Given the description of an element on the screen output the (x, y) to click on. 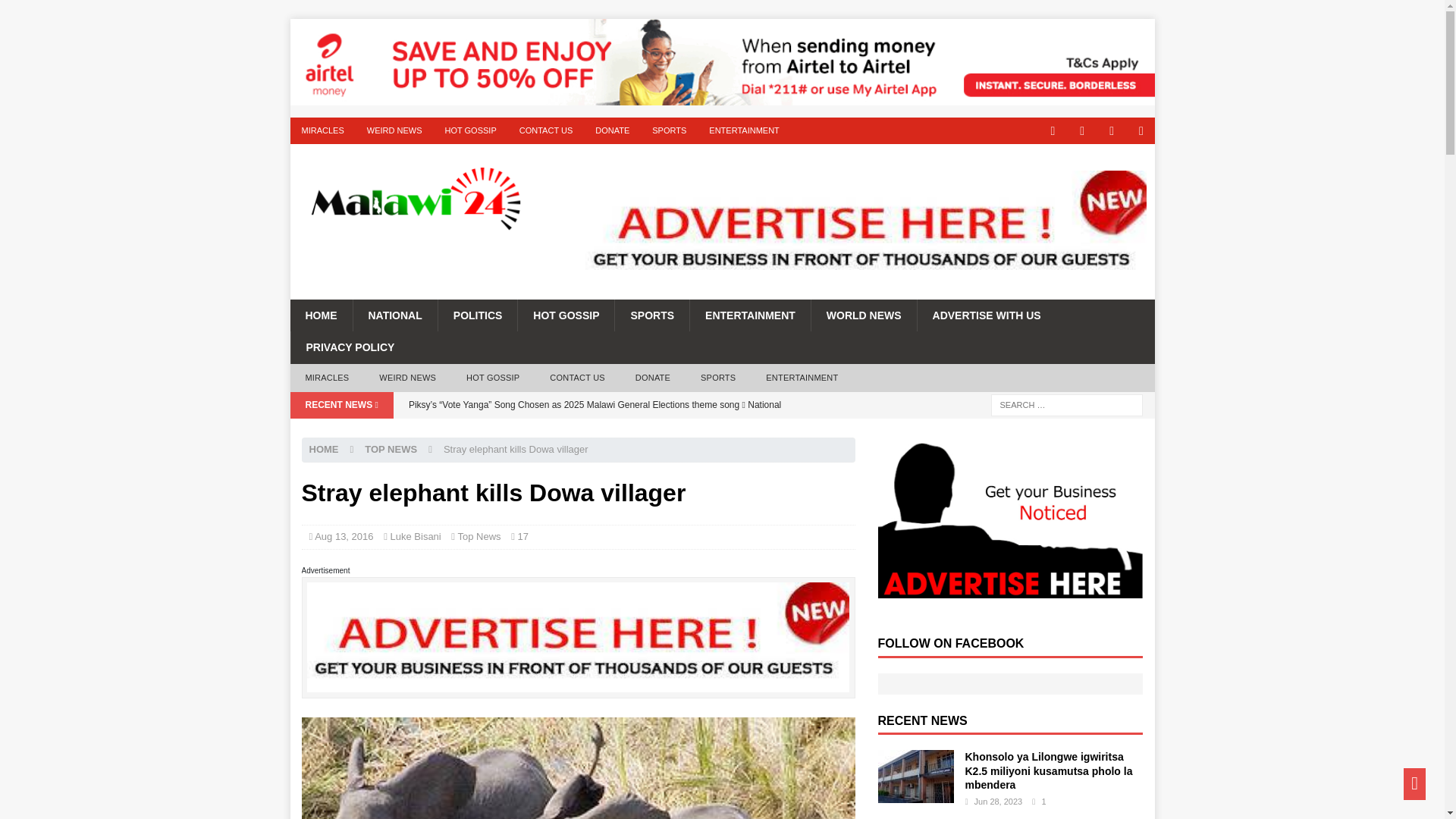
Entertainment (749, 315)
POLITICS (478, 315)
Search (56, 11)
MIRACLES (326, 378)
WEIRD NEWS (407, 378)
ENTERTAINMENT (743, 130)
SPORTS (668, 130)
SPORTS (718, 378)
DONATE (652, 378)
CONTACT US (546, 130)
DONATE (611, 130)
ENTERTAINMENT (749, 315)
WORLD NEWS (863, 315)
Politics (478, 315)
ADVERTISE WITH US (987, 315)
